Given the description of an element on the screen output the (x, y) to click on. 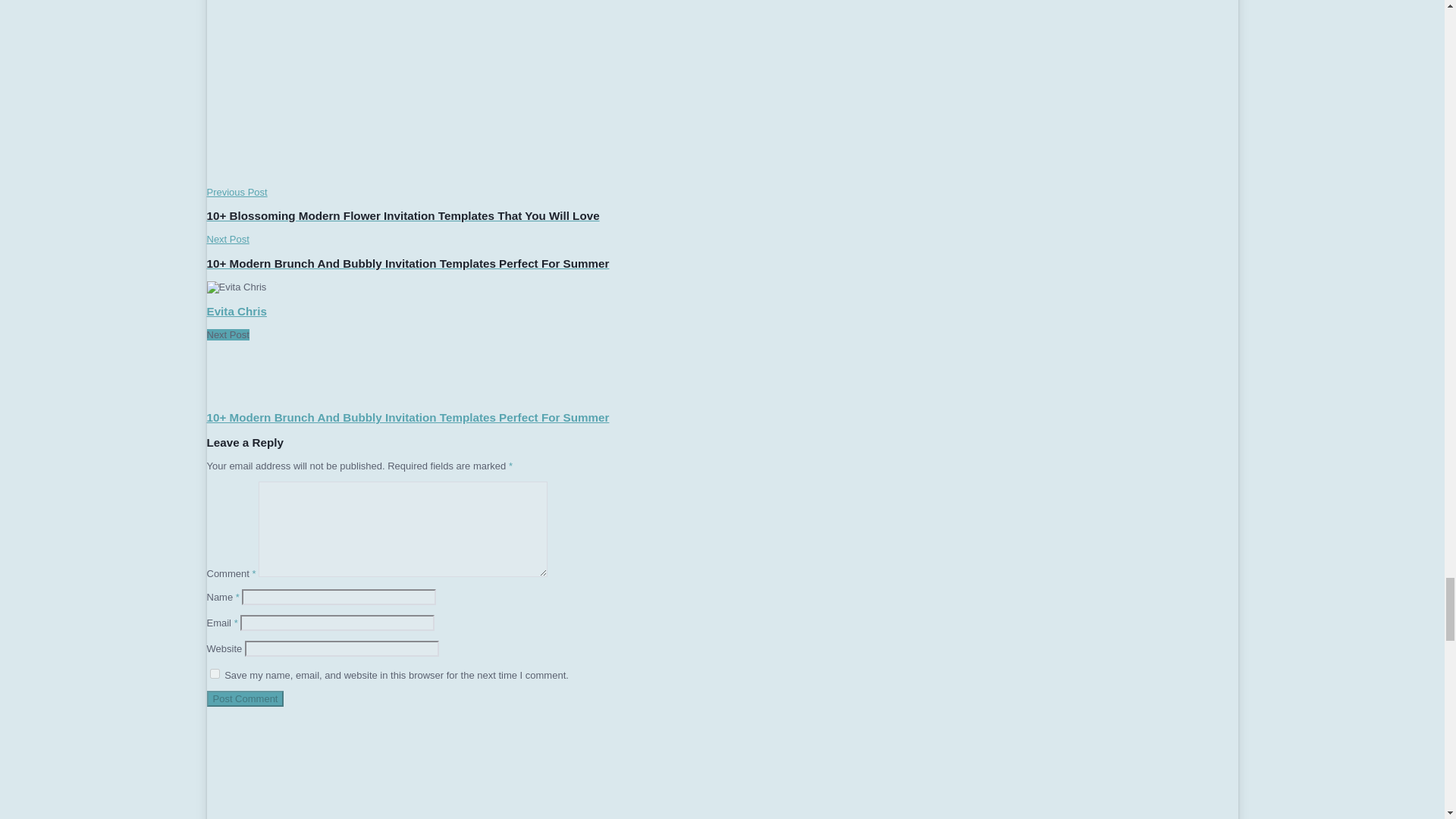
Post Comment (244, 698)
yes (214, 673)
